Given the description of an element on the screen output the (x, y) to click on. 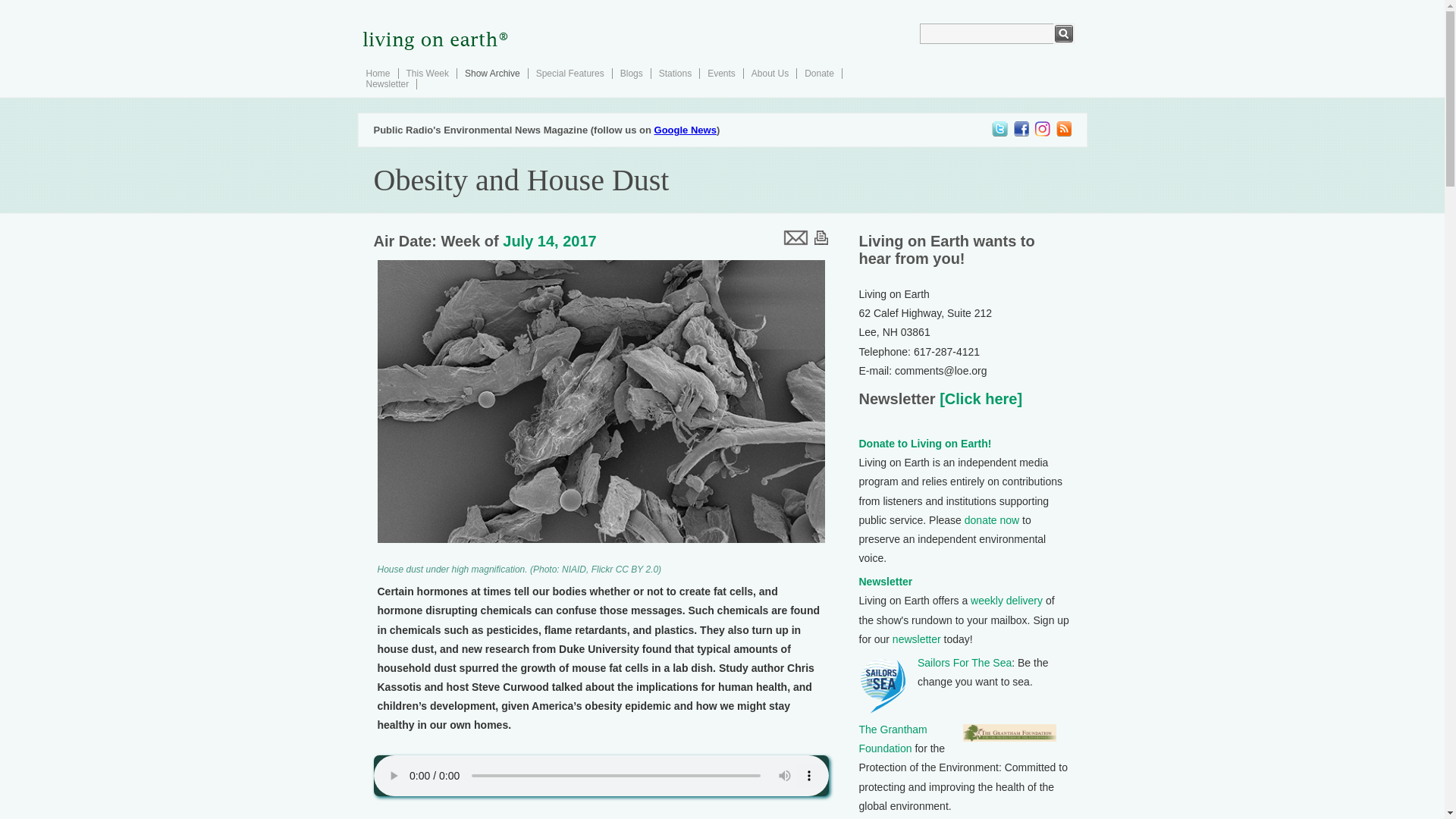
Google News (684, 129)
Stations (675, 72)
Special Features (569, 72)
Newsletter (387, 83)
Newsletter (885, 581)
Home (377, 72)
email (794, 236)
donate now (991, 520)
Show Archive (491, 72)
Blogs (631, 72)
This Week (427, 72)
weekly delivery (1006, 600)
Events (721, 72)
About Us (770, 72)
July 14, 2017 (548, 240)
